Given the description of an element on the screen output the (x, y) to click on. 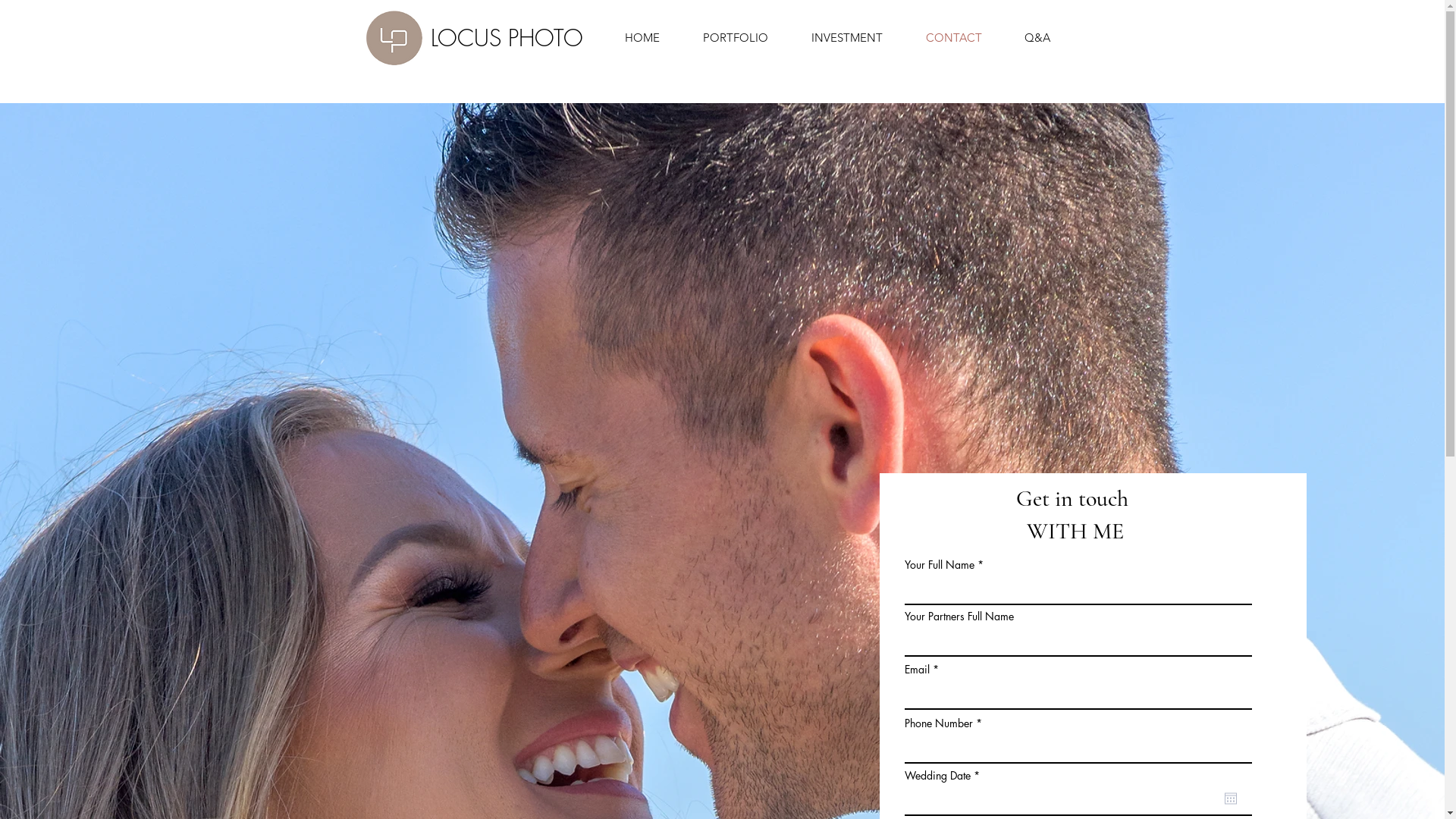
PORTFOLIO Element type: text (724, 37)
Q&A Element type: text (1027, 37)
CONTACT Element type: text (942, 37)
HOME Element type: text (632, 37)
LOCUS PHOTO Element type: text (506, 37)
INVESTMENT Element type: text (836, 37)
